Given the description of an element on the screen output the (x, y) to click on. 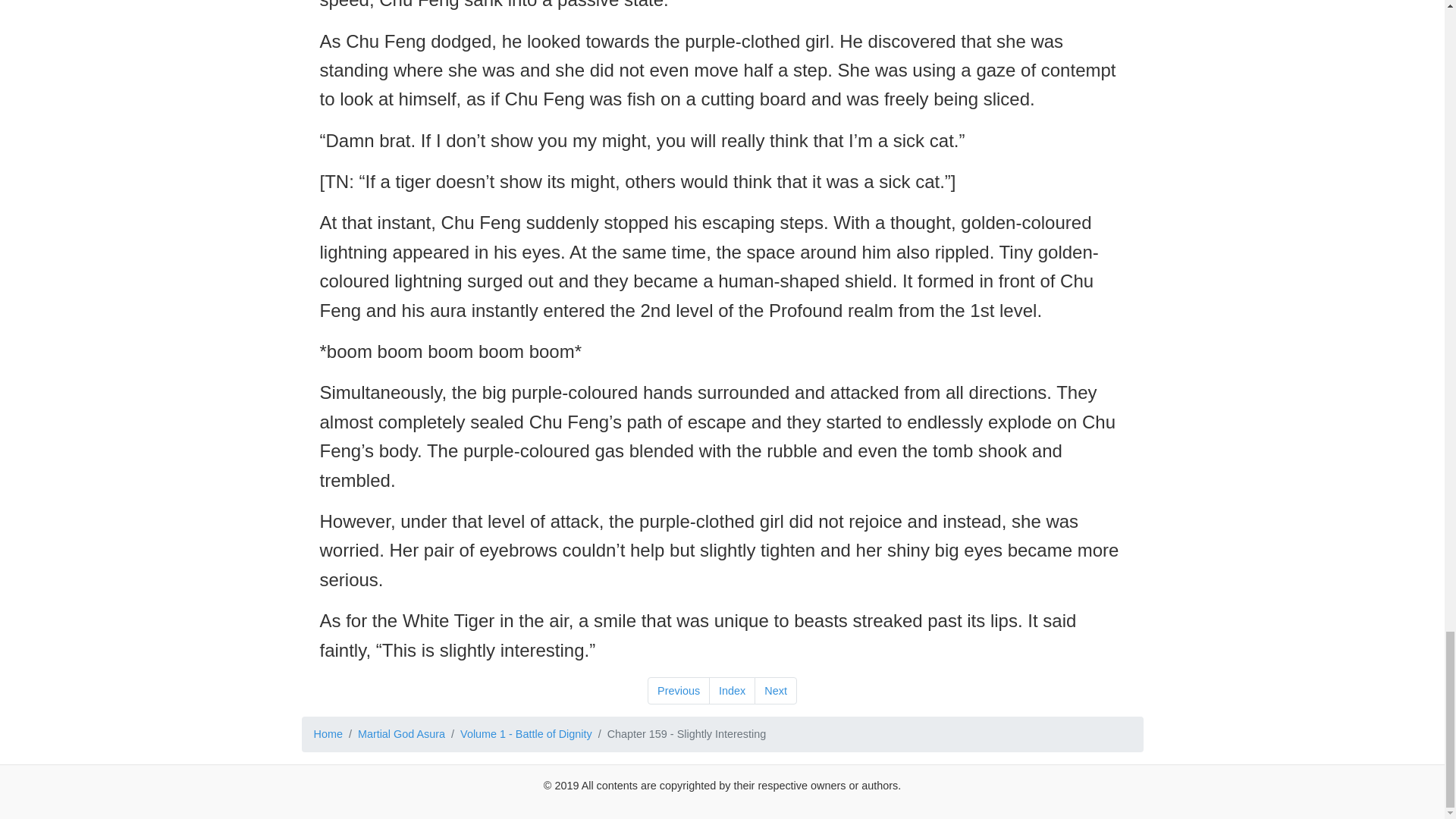
Volume 1 - Battle of Dignity (526, 734)
Martial God Asura (401, 734)
Next (775, 690)
Previous (678, 690)
Home (328, 734)
Index (732, 690)
